Given the description of an element on the screen output the (x, y) to click on. 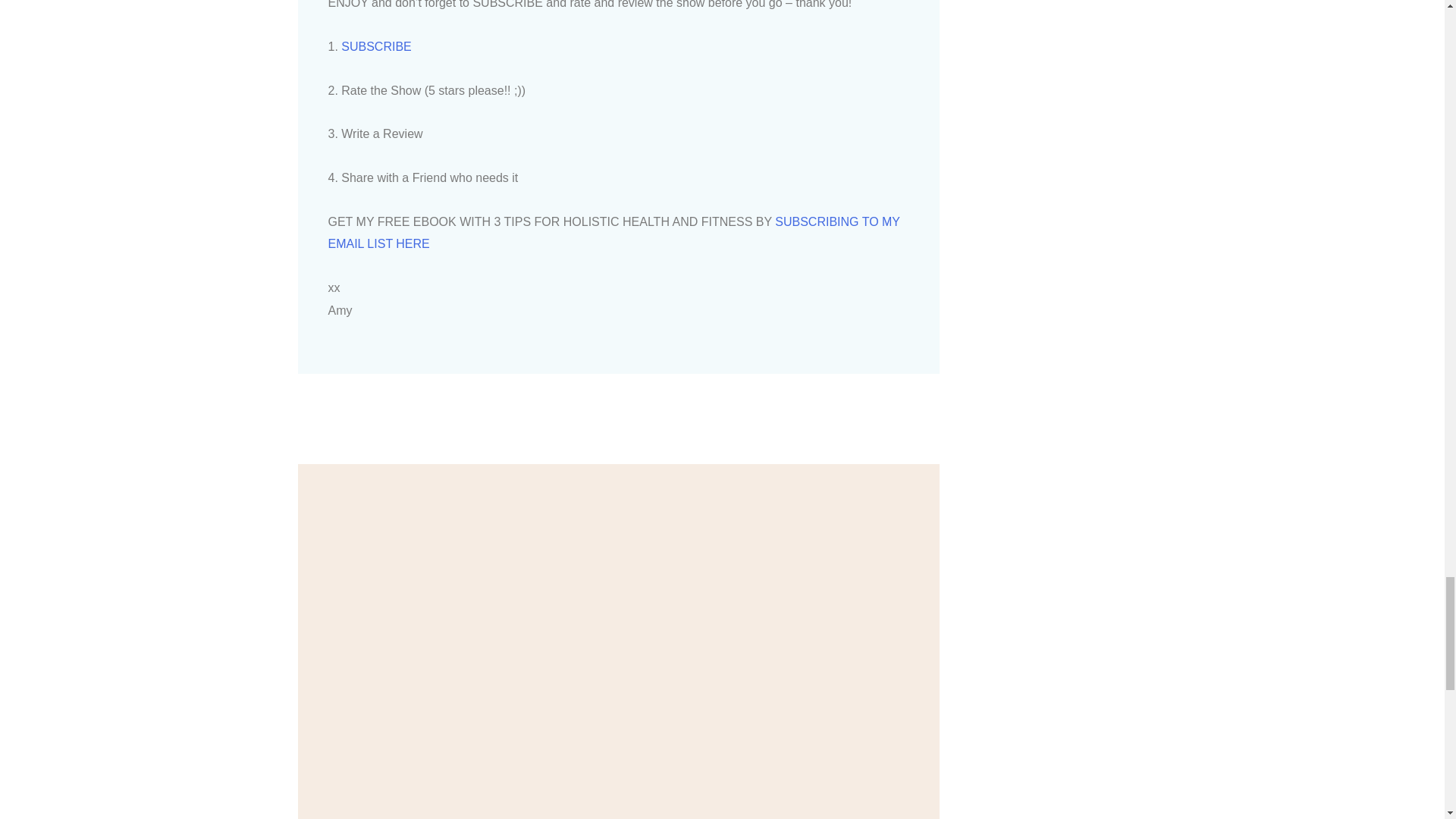
SUBSCRIBE (375, 46)
SUBSCRIBING TO MY EMAIL LIST HERE (613, 232)
